Given the description of an element on the screen output the (x, y) to click on. 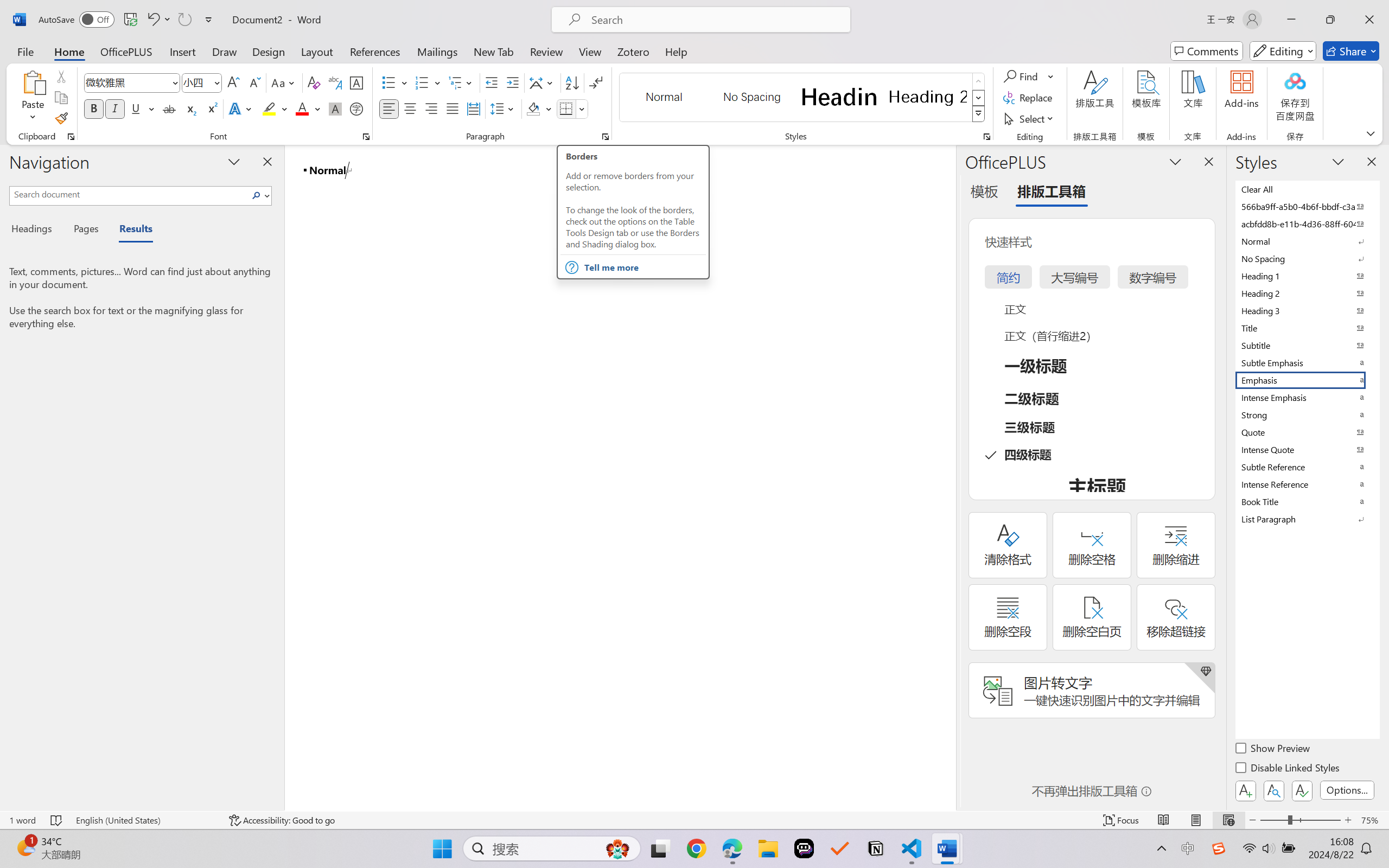
New Tab (493, 51)
Can't Repeat (184, 19)
Justify (452, 108)
AutoSave (76, 19)
Show Preview (1273, 749)
Text Highlight Color Yellow (269, 108)
Restore Down (1330, 19)
Bullets (395, 82)
Center (409, 108)
Help (675, 51)
Clear All (1306, 188)
